Given the description of an element on the screen output the (x, y) to click on. 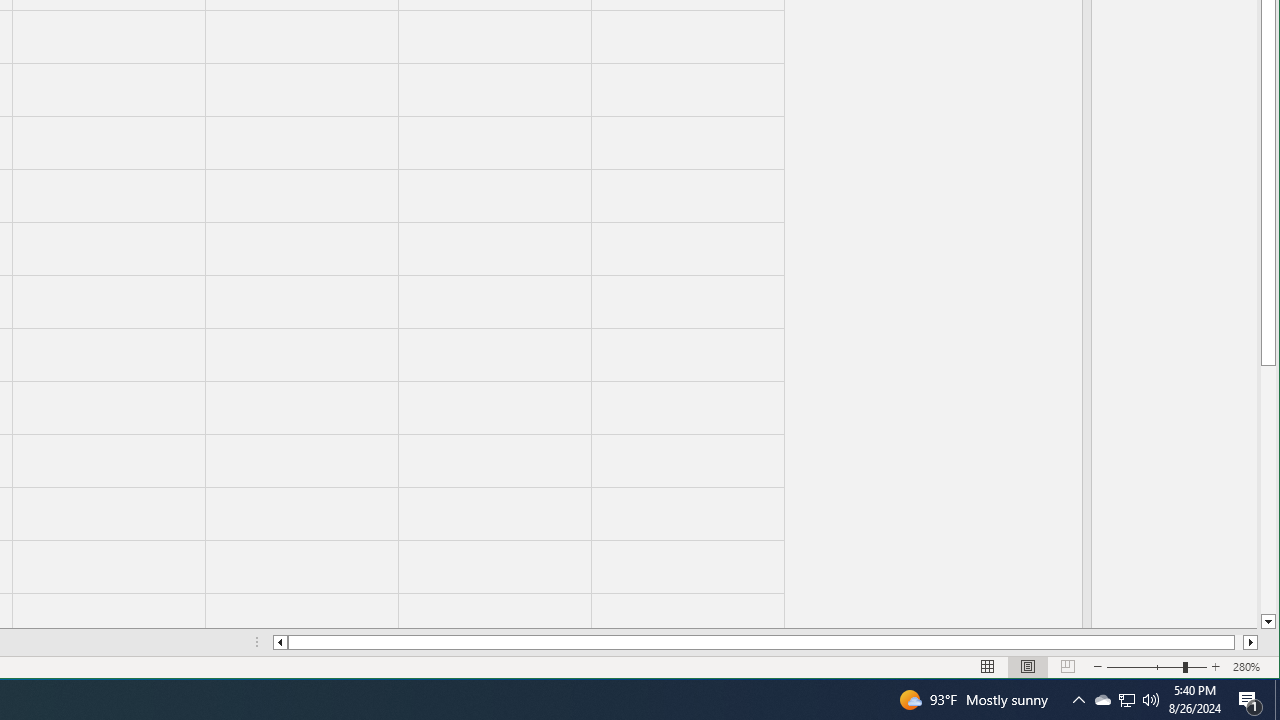
Action Center, 1 new notification (1126, 699)
